Given the description of an element on the screen output the (x, y) to click on. 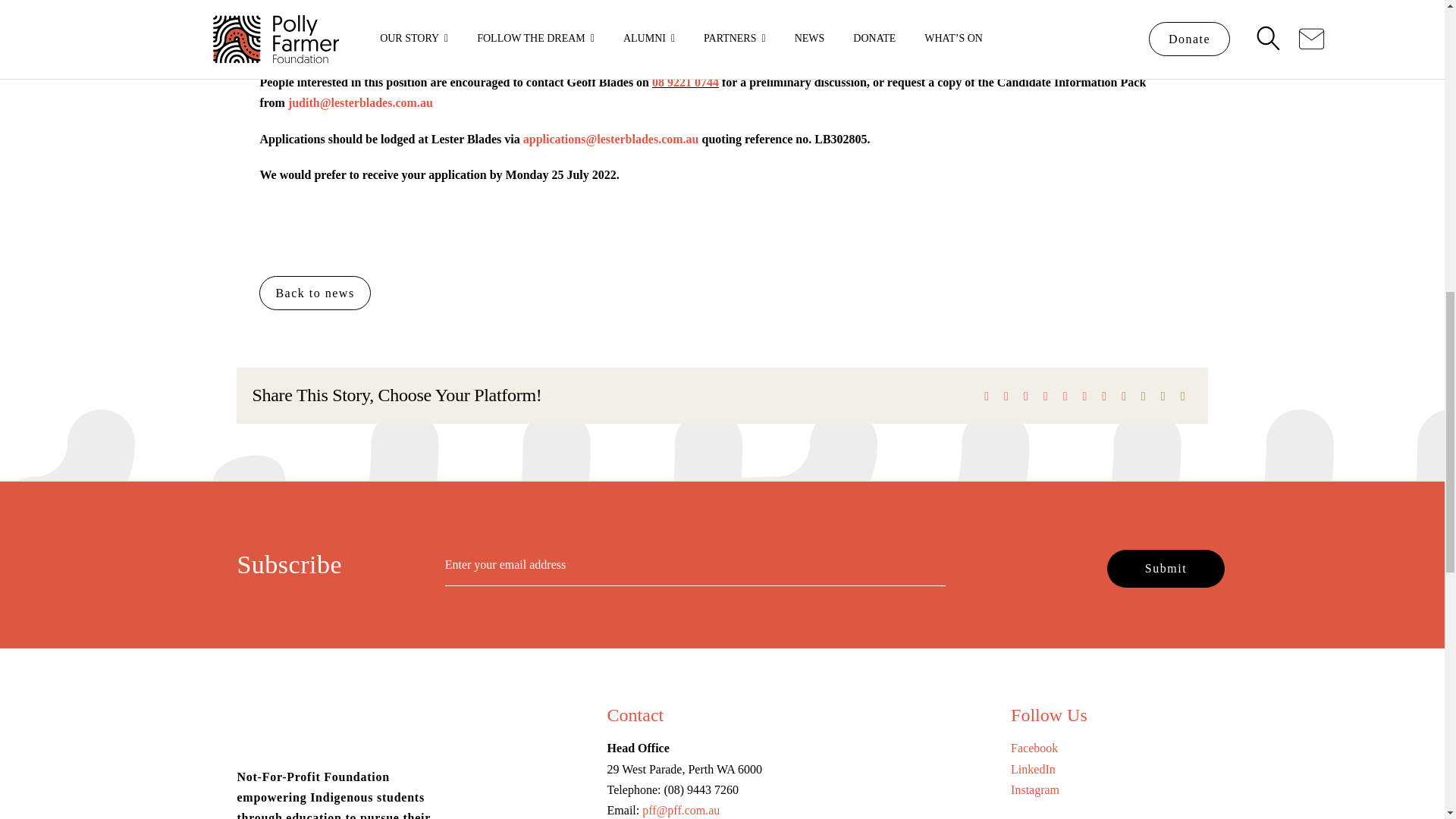
Submit (1165, 568)
